Given the description of an element on the screen output the (x, y) to click on. 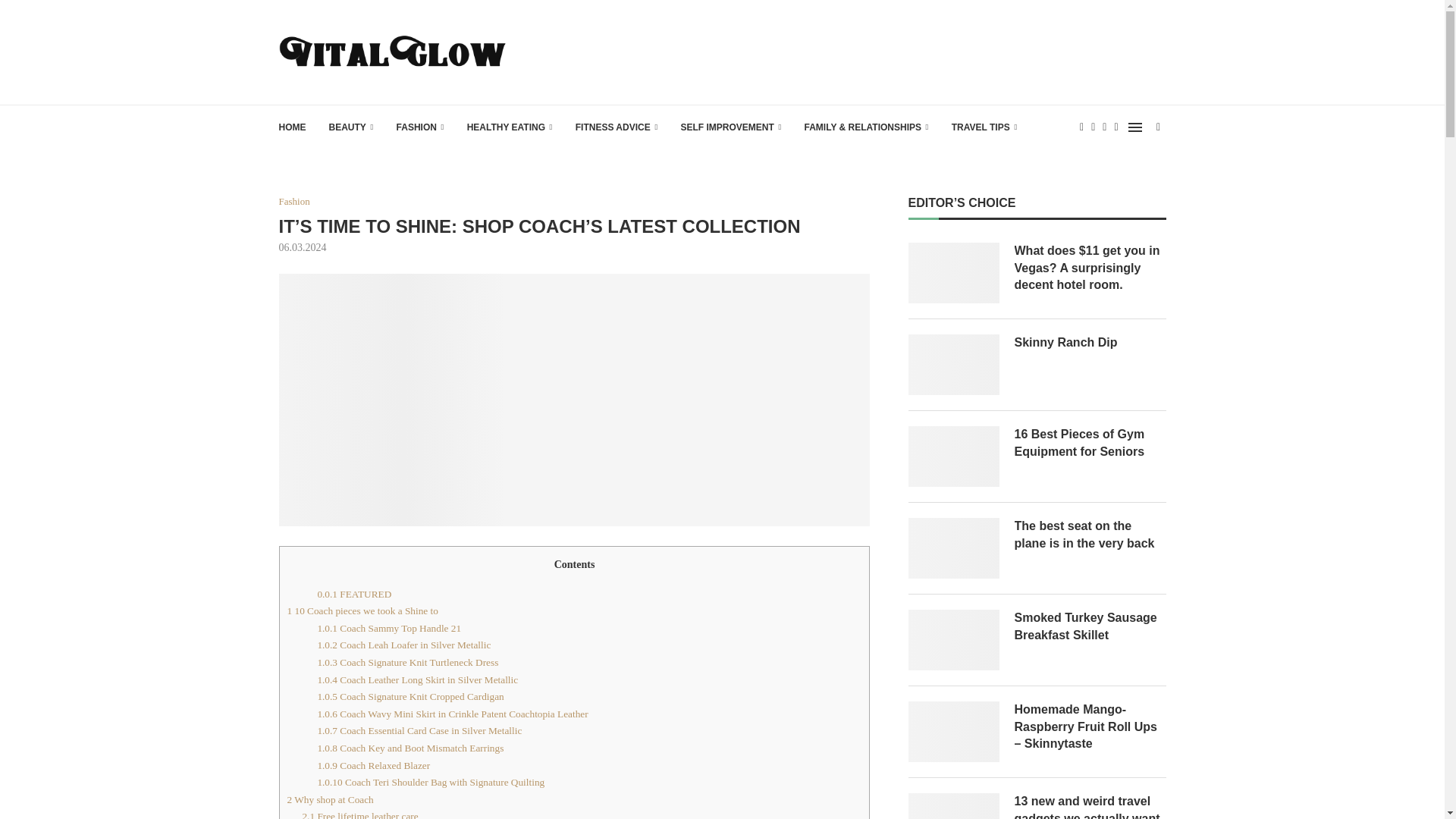
HOME (292, 127)
BEAUTY (351, 127)
FASHION (420, 127)
HEALTHY EATING (510, 127)
